Given the description of an element on the screen output the (x, y) to click on. 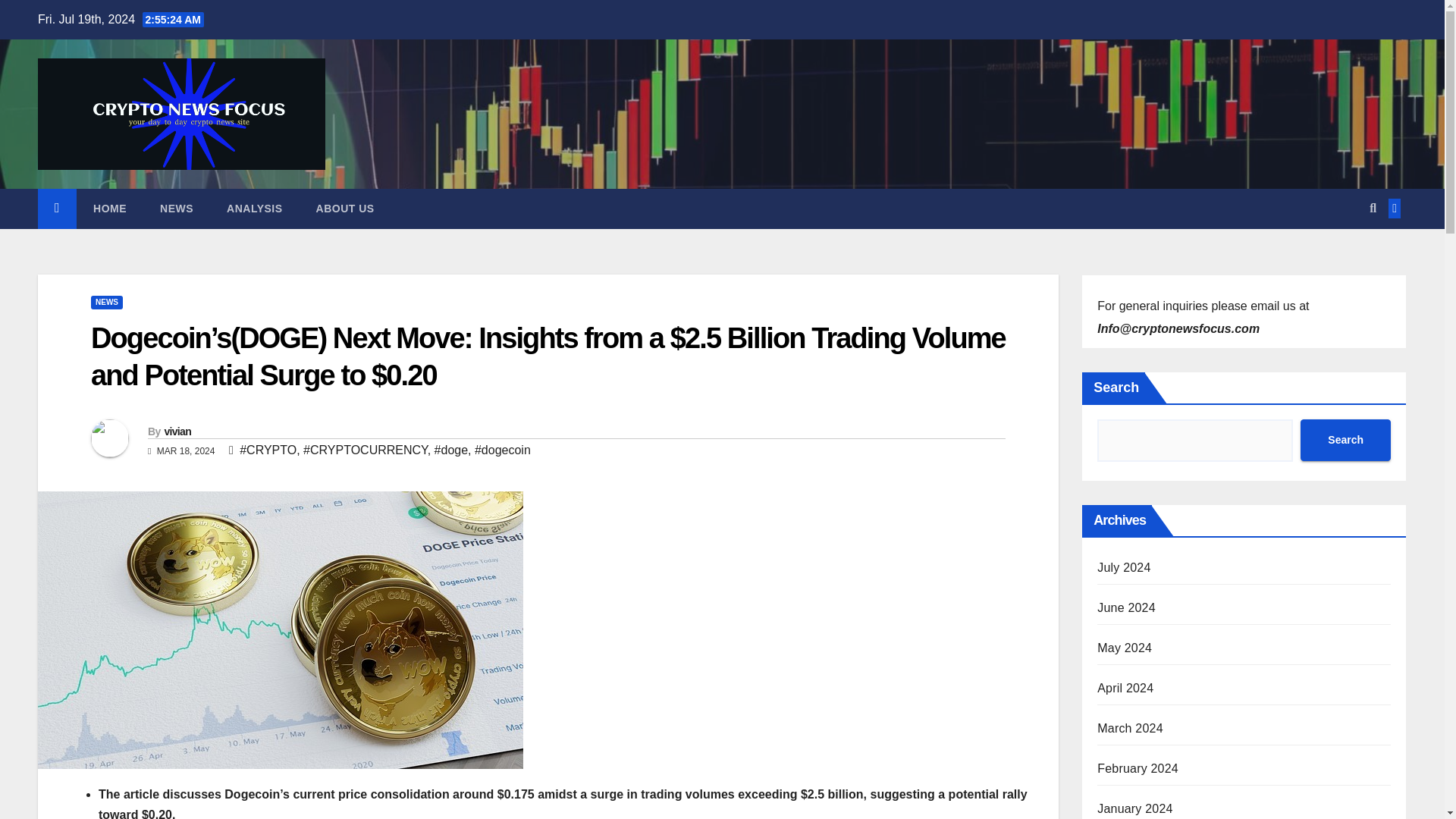
vivian (176, 431)
ABOUT US (345, 208)
HOME (109, 208)
Analysis (254, 208)
About Us (345, 208)
NEWS (106, 302)
News (175, 208)
NEWS (175, 208)
ANALYSIS (254, 208)
Home (109, 208)
